Given the description of an element on the screen output the (x, y) to click on. 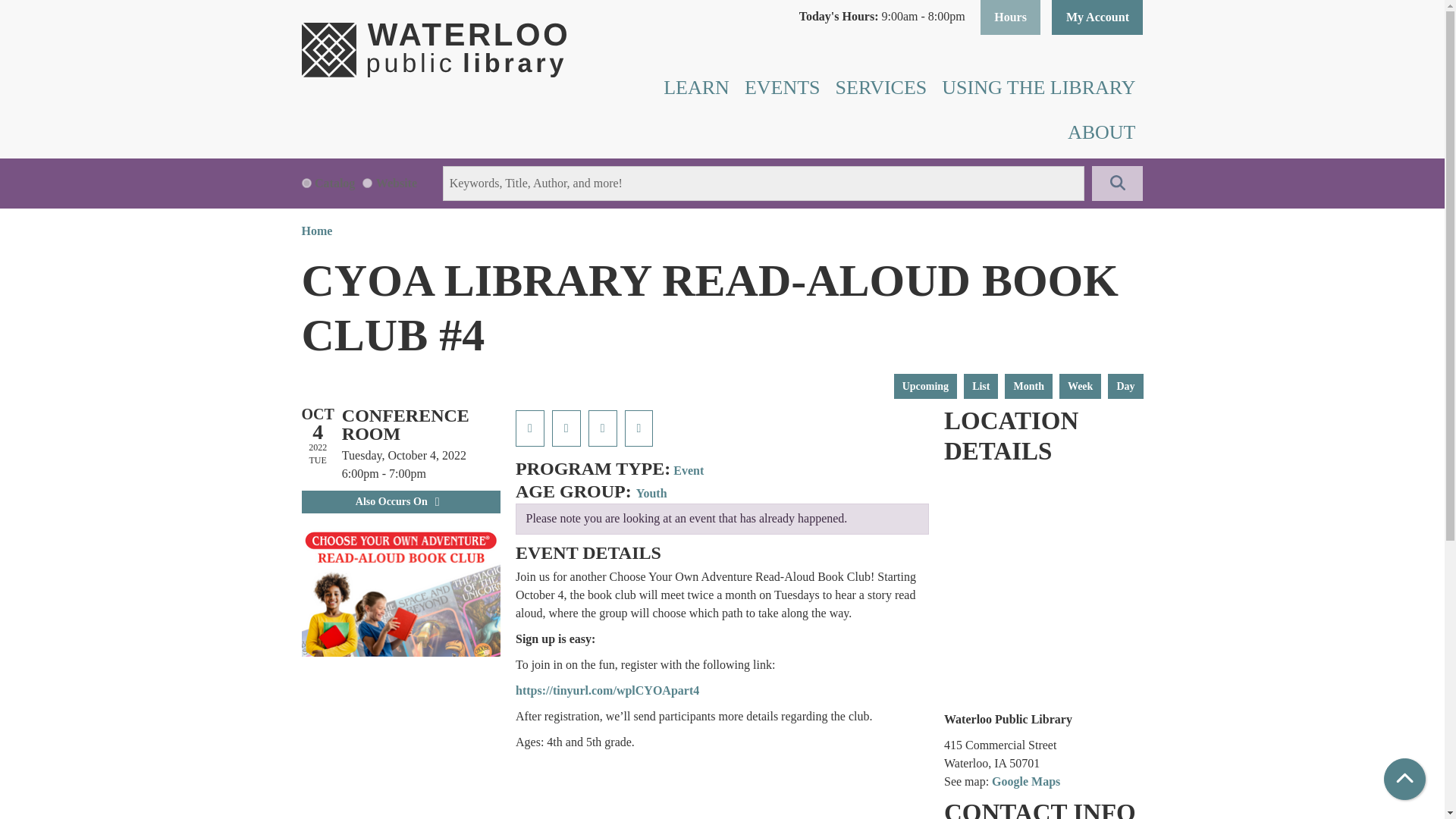
Search (1117, 183)
My Account (1096, 17)
Home (434, 49)
on (367, 182)
Hours (1010, 17)
Back To Top (1404, 779)
on (306, 182)
